Given the description of an element on the screen output the (x, y) to click on. 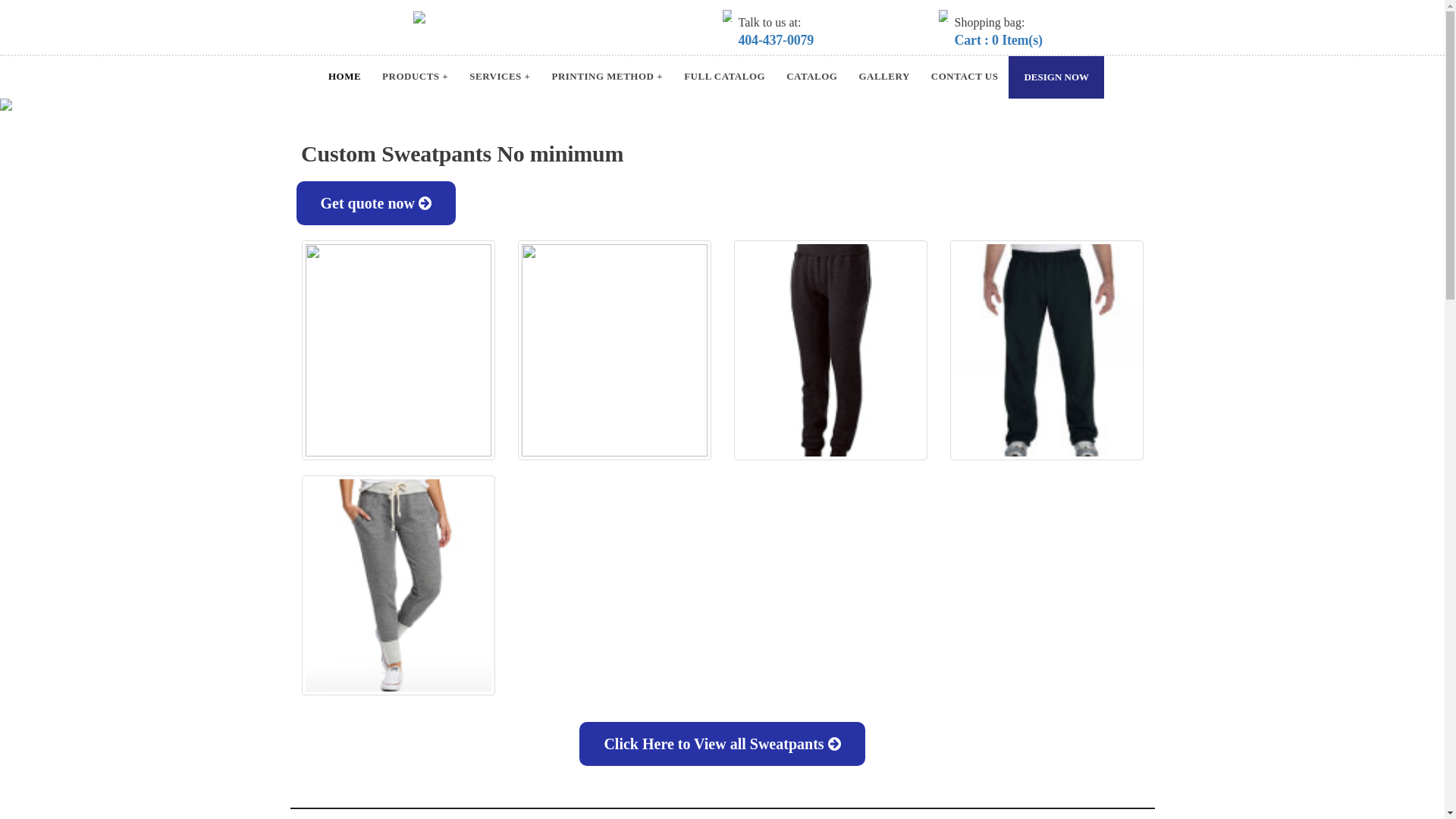
Click Here to View all Sweatpants Element type: text (721, 743)
HOME Element type: text (344, 76)
PRINTING METHOD + Element type: text (606, 76)
FULL CATALOG Element type: text (724, 76)
CATALOG Element type: text (811, 76)
PRODUCTS + Element type: text (414, 76)
GALLERY Element type: text (883, 76)
SERVICES + Element type: text (499, 76)
404-437-0079 Element type: text (776, 39)
Get quote now Element type: text (375, 203)
CONTACT US Element type: text (964, 76)
Cart : 0 Item(s) Element type: text (997, 39)
